Given the description of an element on the screen output the (x, y) to click on. 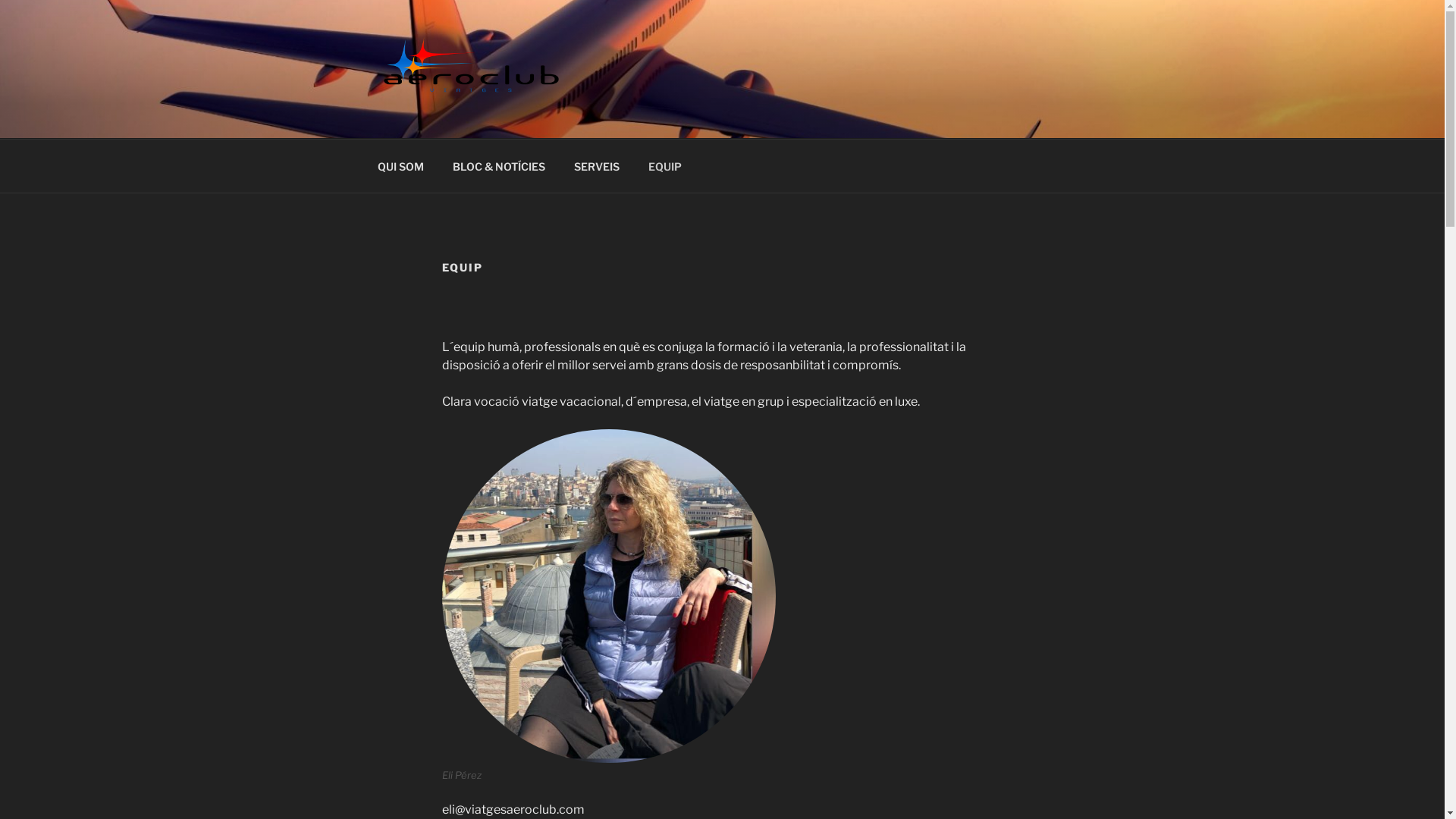
QUI SOM Element type: text (400, 165)
EQUIP Element type: text (665, 165)
SERVEIS Element type: text (597, 165)
VIATGES AEROCLUB SA Element type: text (564, 118)
